Given the description of an element on the screen output the (x, y) to click on. 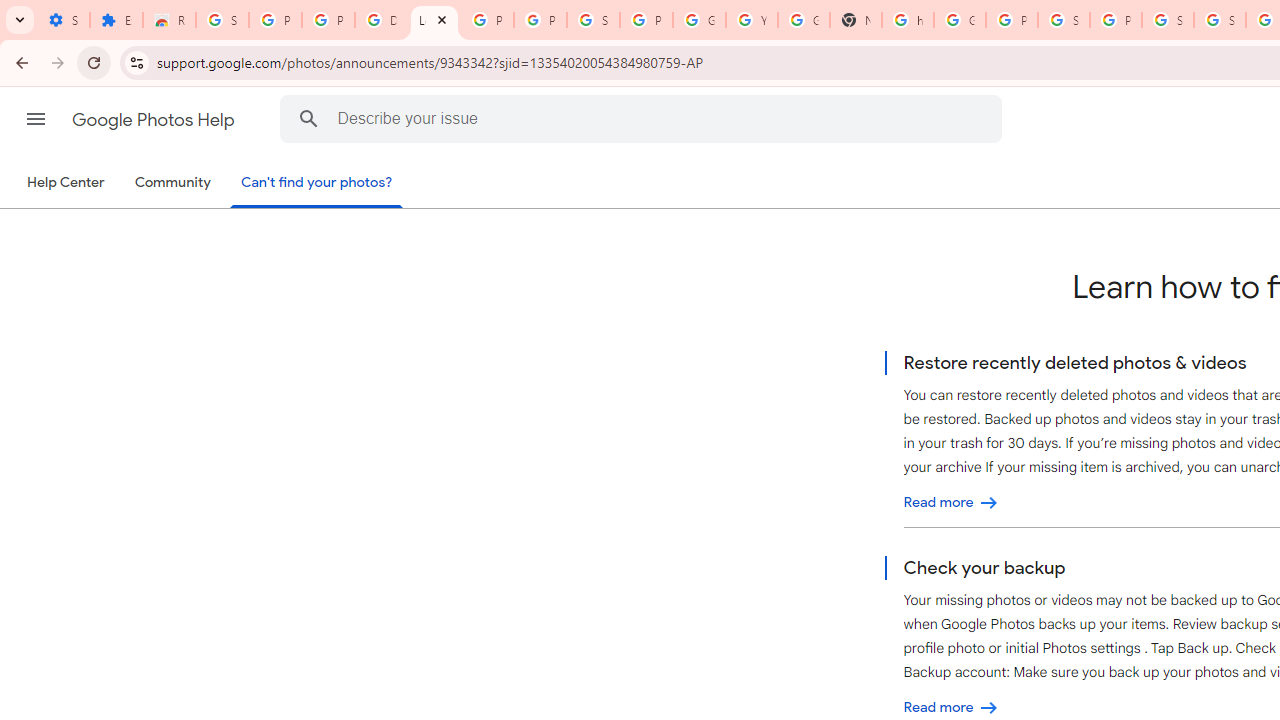
Delete photos & videos - Computer - Google Photos Help (381, 20)
Check your backup (951, 708)
Google Account (699, 20)
Reviews: Helix Fruit Jump Arcade Game (169, 20)
Google Photos Help (155, 119)
Search Help Center (309, 118)
Sign in - Google Accounts (1219, 20)
